Given the description of an element on the screen output the (x, y) to click on. 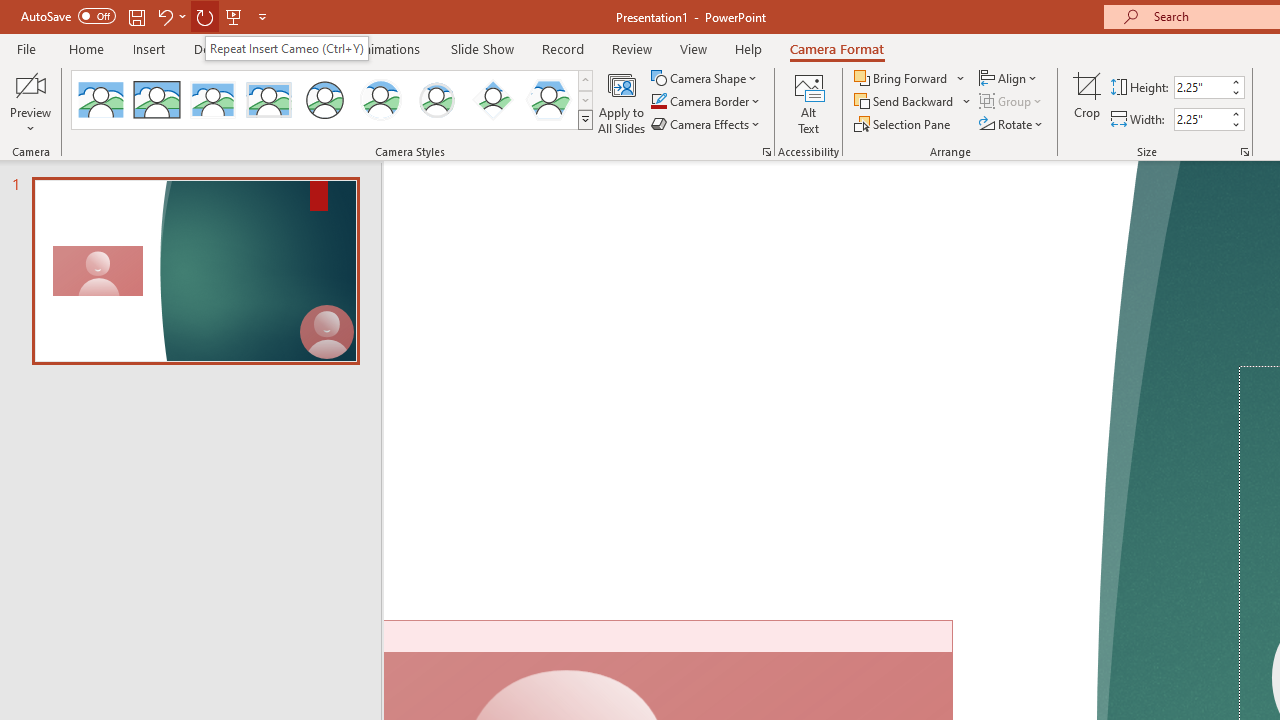
Group (1012, 101)
Camera Shape (705, 78)
Center Shadow Circle (381, 100)
Bring Forward (910, 78)
Quick Access Toolbar (145, 16)
View (693, 48)
From Beginning (234, 15)
Cameo Width (1201, 119)
Center Shadow Hexagon (548, 100)
Size and Position... (1244, 151)
More Options (967, 101)
More (1235, 113)
Animations (388, 48)
